Given the description of an element on the screen output the (x, y) to click on. 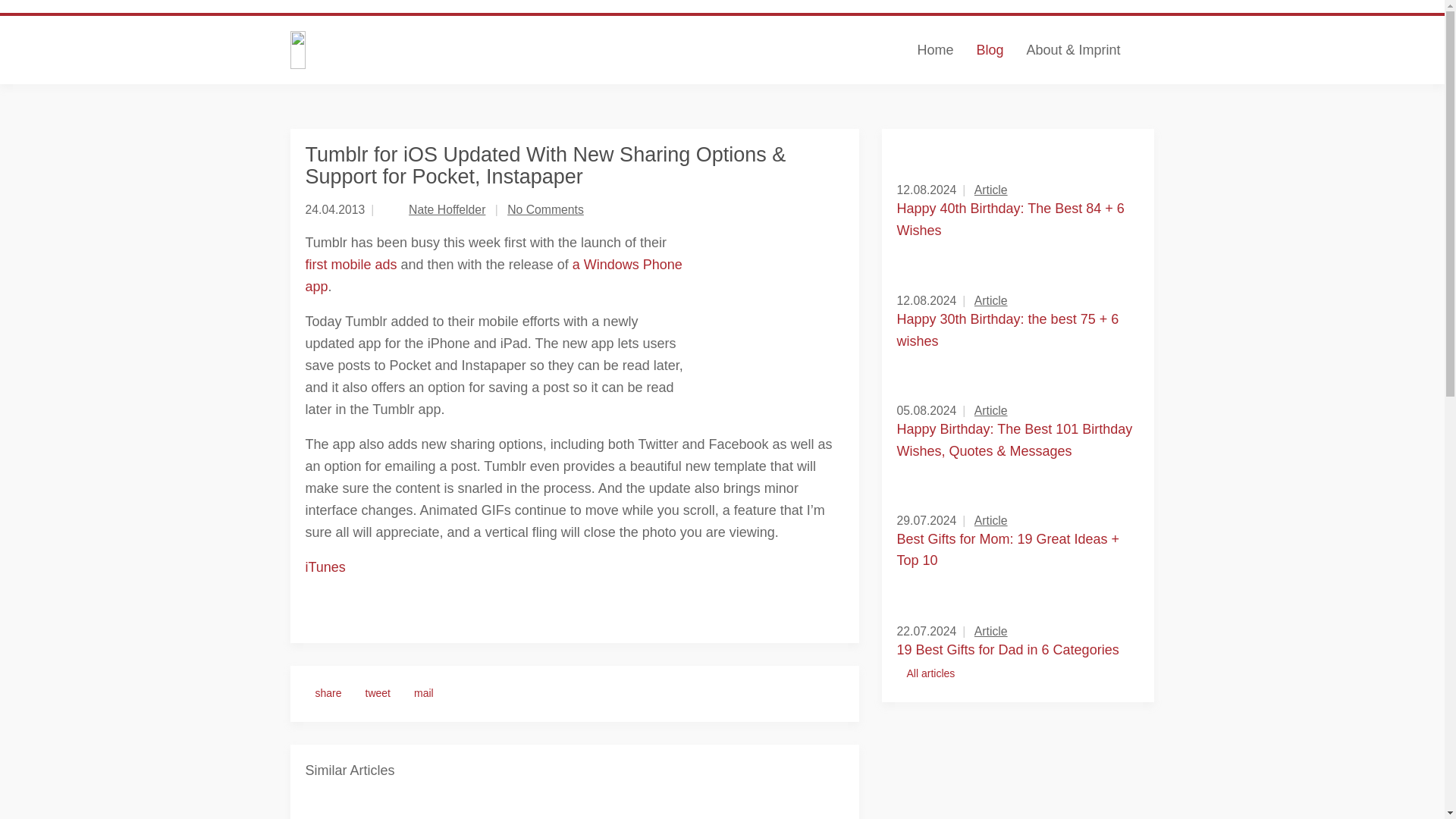
Home (934, 49)
Article (990, 189)
Amazon to Open Pop Up Stores in SF, Sacramento Next Week (575, 807)
Article (990, 410)
The Digital Reader (437, 49)
a Windows Phone app (492, 275)
No Comments (544, 209)
share (327, 693)
Article (990, 520)
Nate Hoffelder (446, 209)
